Given the description of an element on the screen output the (x, y) to click on. 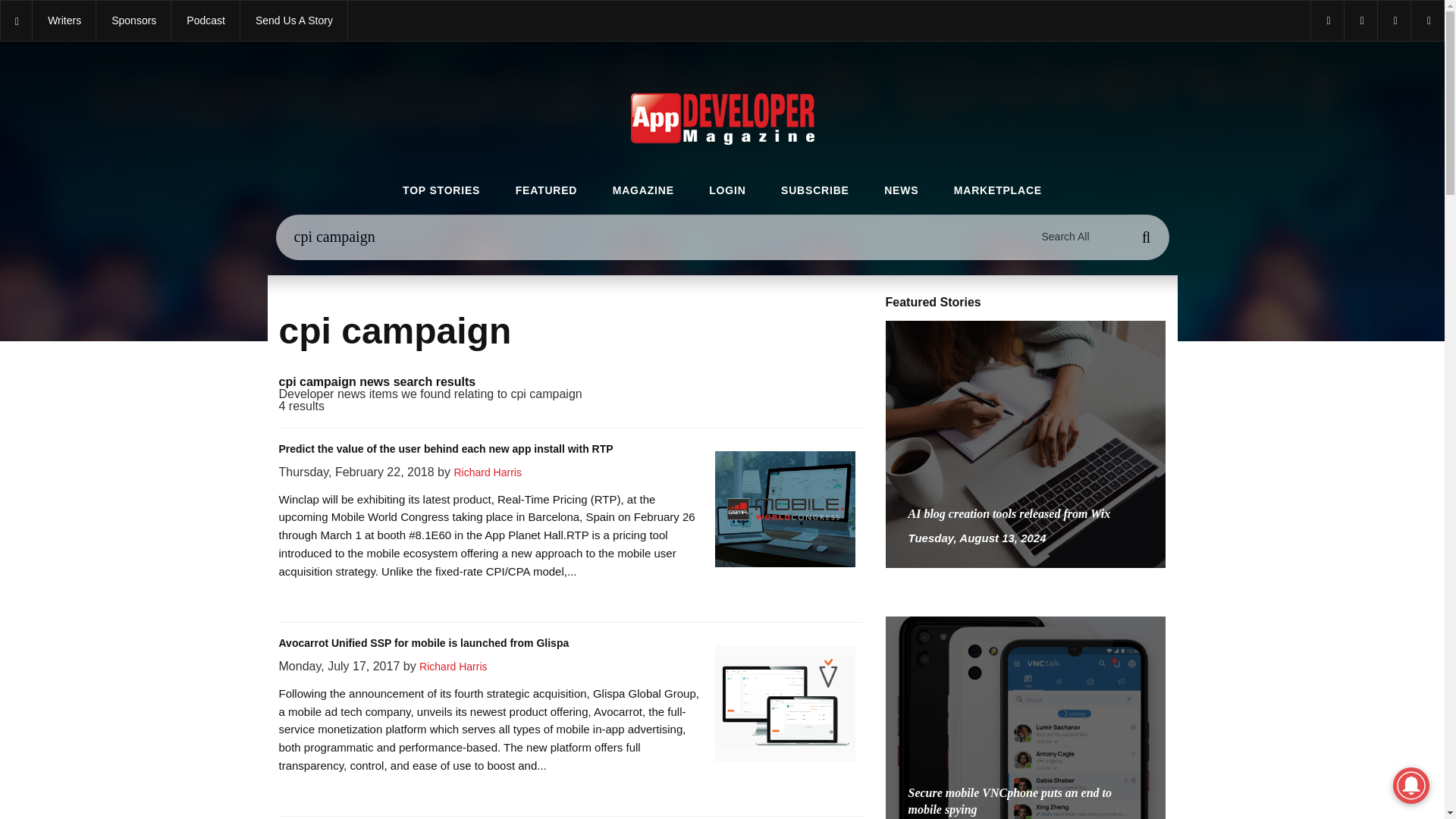
Podcast (205, 20)
MAGAZINE (643, 190)
Send Us A Story (293, 20)
Writers (64, 20)
TOP STORIES (441, 190)
Submit App News or Press Release (293, 20)
App Developer Magazine Sponsors (133, 20)
NEWS (900, 190)
SUBSCRIBE (814, 190)
